Given the description of an element on the screen output the (x, y) to click on. 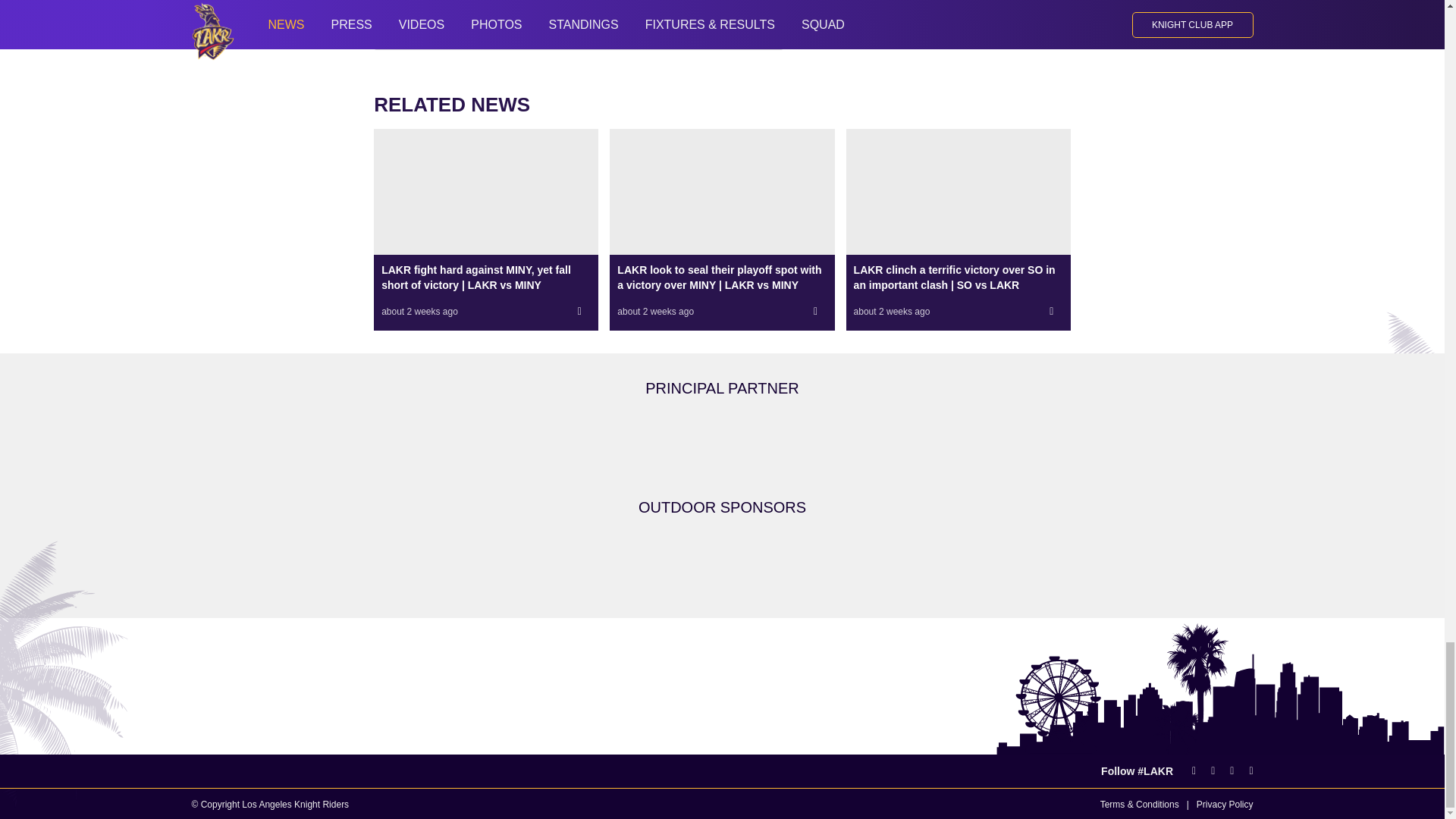
Share (816, 311)
Share (1051, 311)
Share (579, 311)
Privacy Policy (1224, 805)
